Given the description of an element on the screen output the (x, y) to click on. 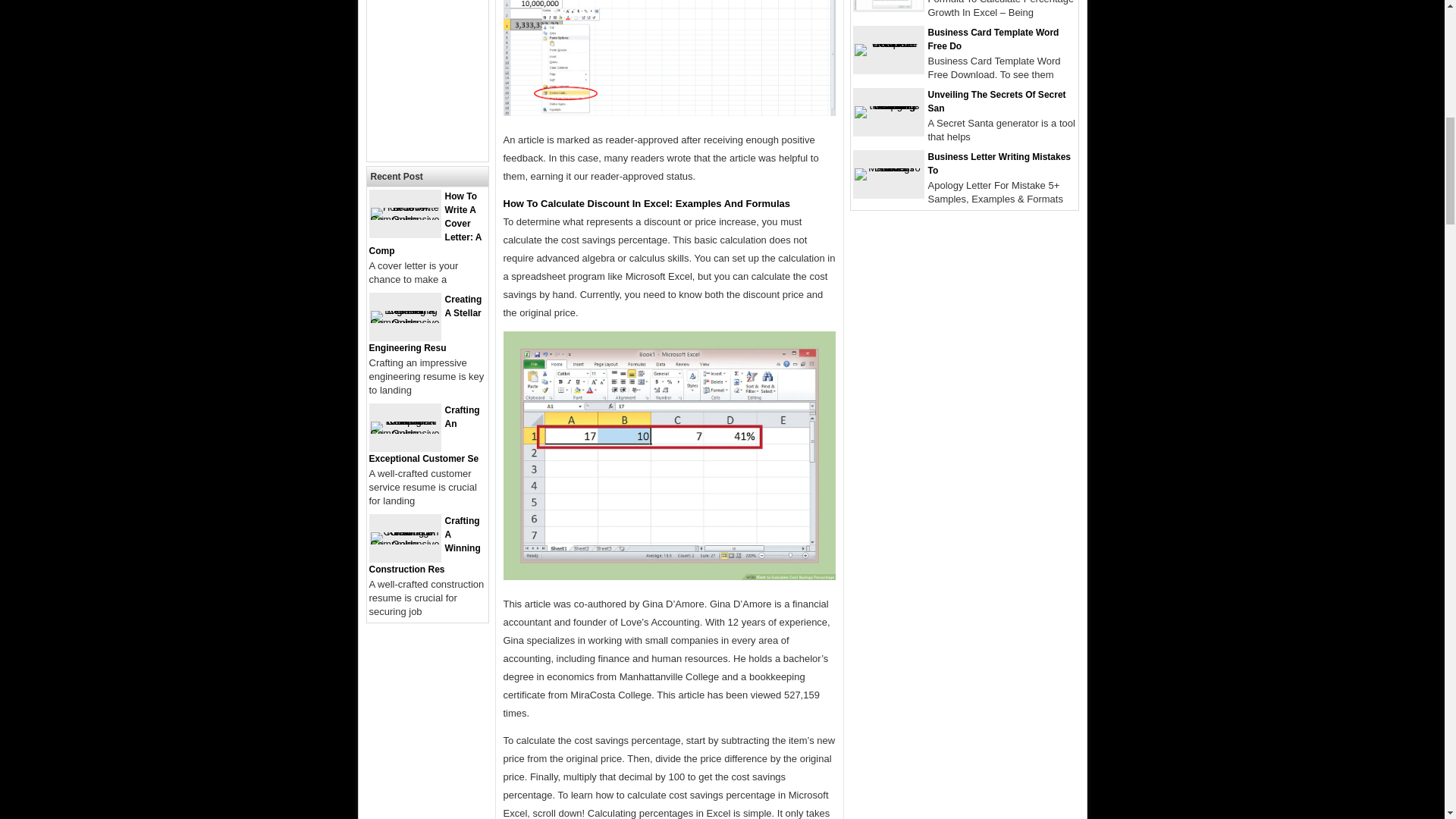
How To Calculate Percentage In Excel Formula (669, 455)
Crafting A Winning Construction Res (424, 544)
Creating A Stellar Engineering Resu (424, 323)
Crafting An Exceptional Customer Se (423, 434)
How To Calculate Percentage In Excel Formula (669, 58)
How To Write A Cover Letter: A Comp (424, 223)
